Given the description of an element on the screen output the (x, y) to click on. 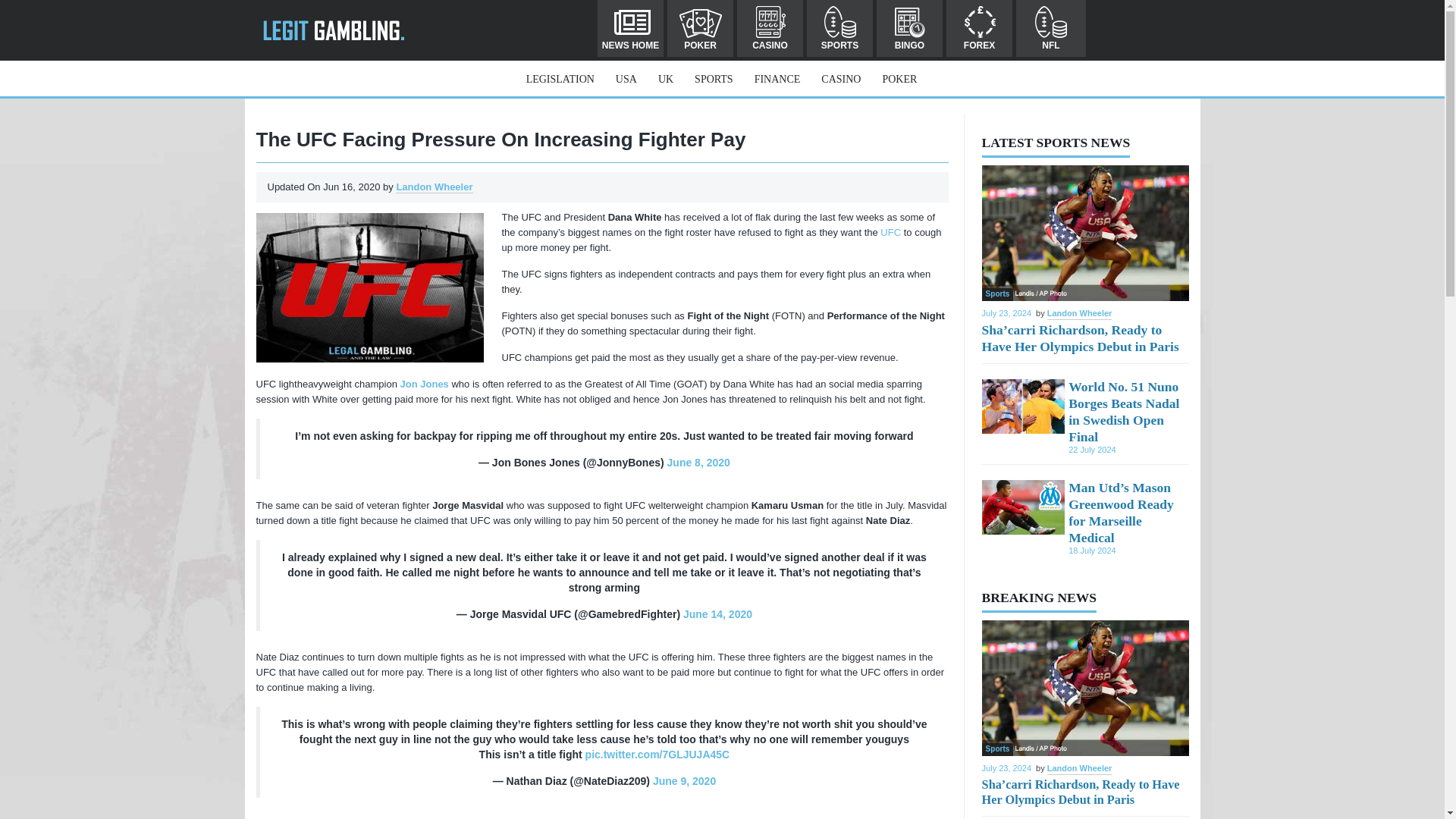
NEWS HOME (629, 28)
FINANCE (777, 79)
POKER (899, 79)
SPORTS (839, 28)
NFL (1051, 28)
FOREX (978, 28)
USA (625, 79)
POKER (699, 28)
CASINO (840, 79)
CASINO (769, 28)
LEGISLATION (560, 79)
SPORTS (713, 79)
UK (664, 79)
BINGO (909, 28)
The UFC Facing Pressure On Increasing Fighter Pay  (369, 287)
